Given the description of an element on the screen output the (x, y) to click on. 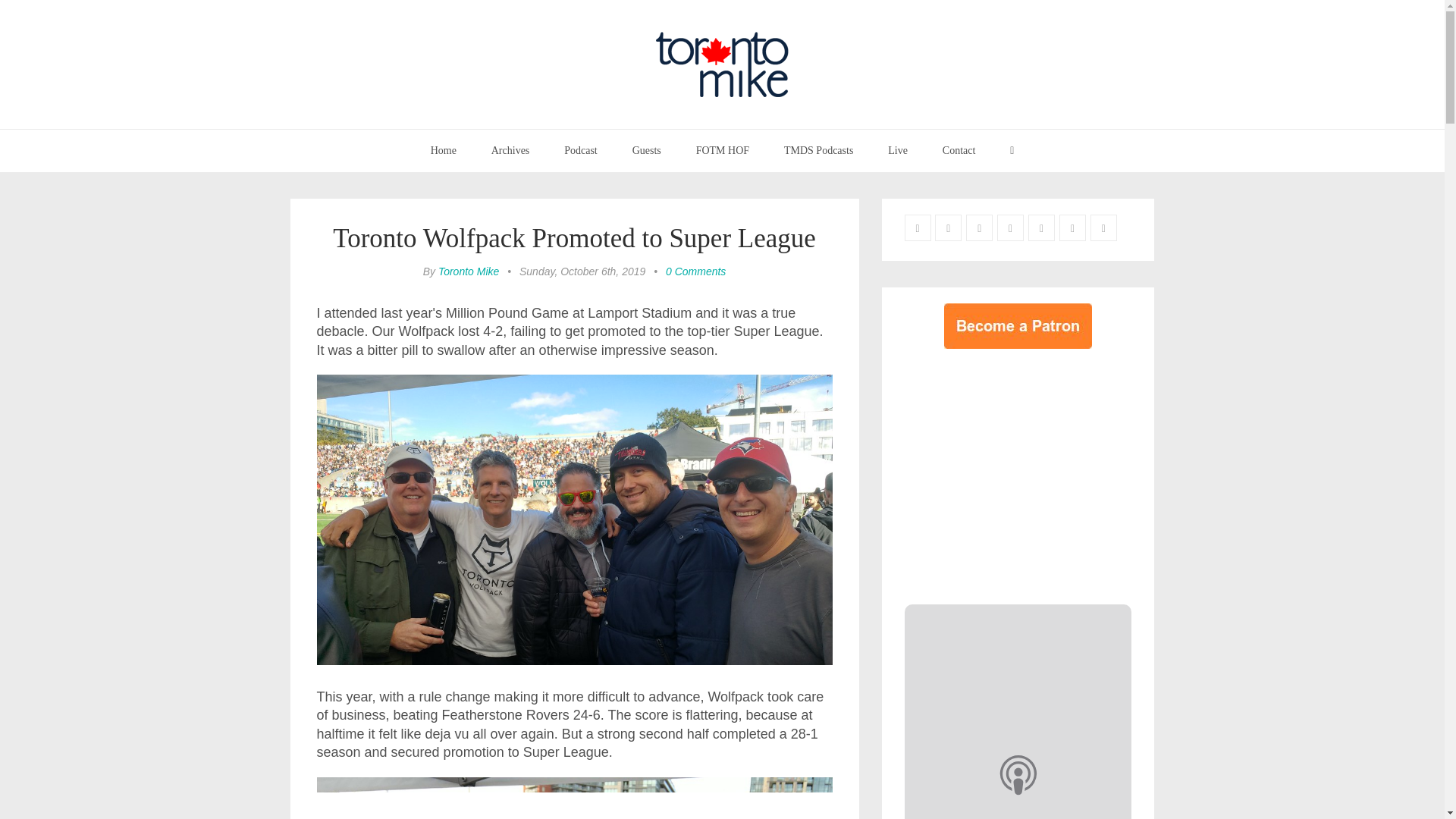
TMDS Podcasts (818, 150)
FOTM HOF (722, 150)
Contact (958, 150)
Live (897, 150)
Home (442, 150)
0 Comments (695, 271)
Podcast (580, 150)
Toronto Mike (468, 271)
Guests (646, 150)
Archives (511, 150)
